Given the description of an element on the screen output the (x, y) to click on. 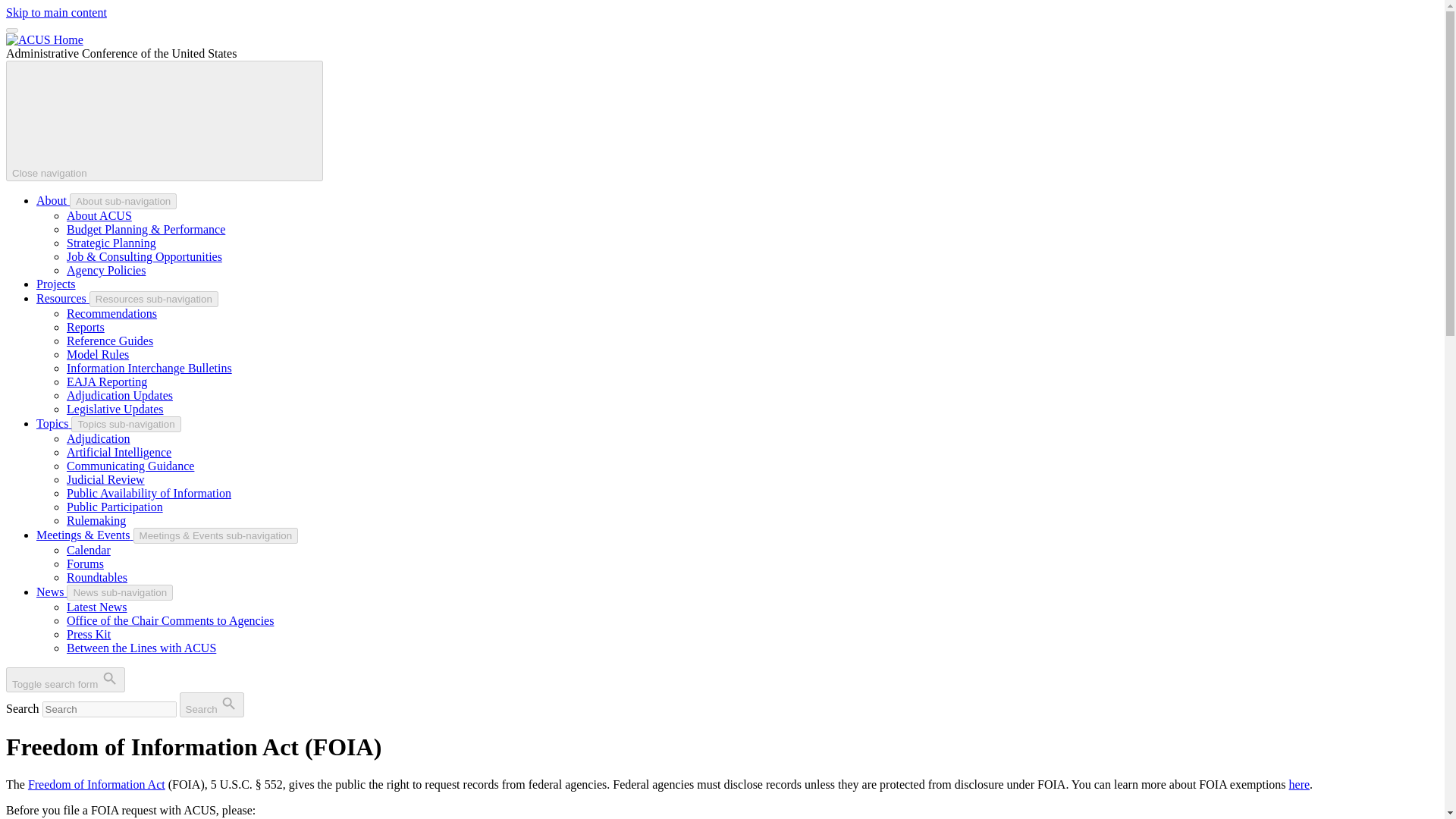
Reports (85, 327)
Public Participation (114, 506)
Adjudication (98, 438)
Resources sub-navigation (153, 299)
Resources (62, 297)
About ACUS (99, 215)
Strategic Planning (110, 242)
Roundtables (97, 576)
About sub-navigation (122, 201)
Rulemaking (95, 520)
